Given the description of an element on the screen output the (x, y) to click on. 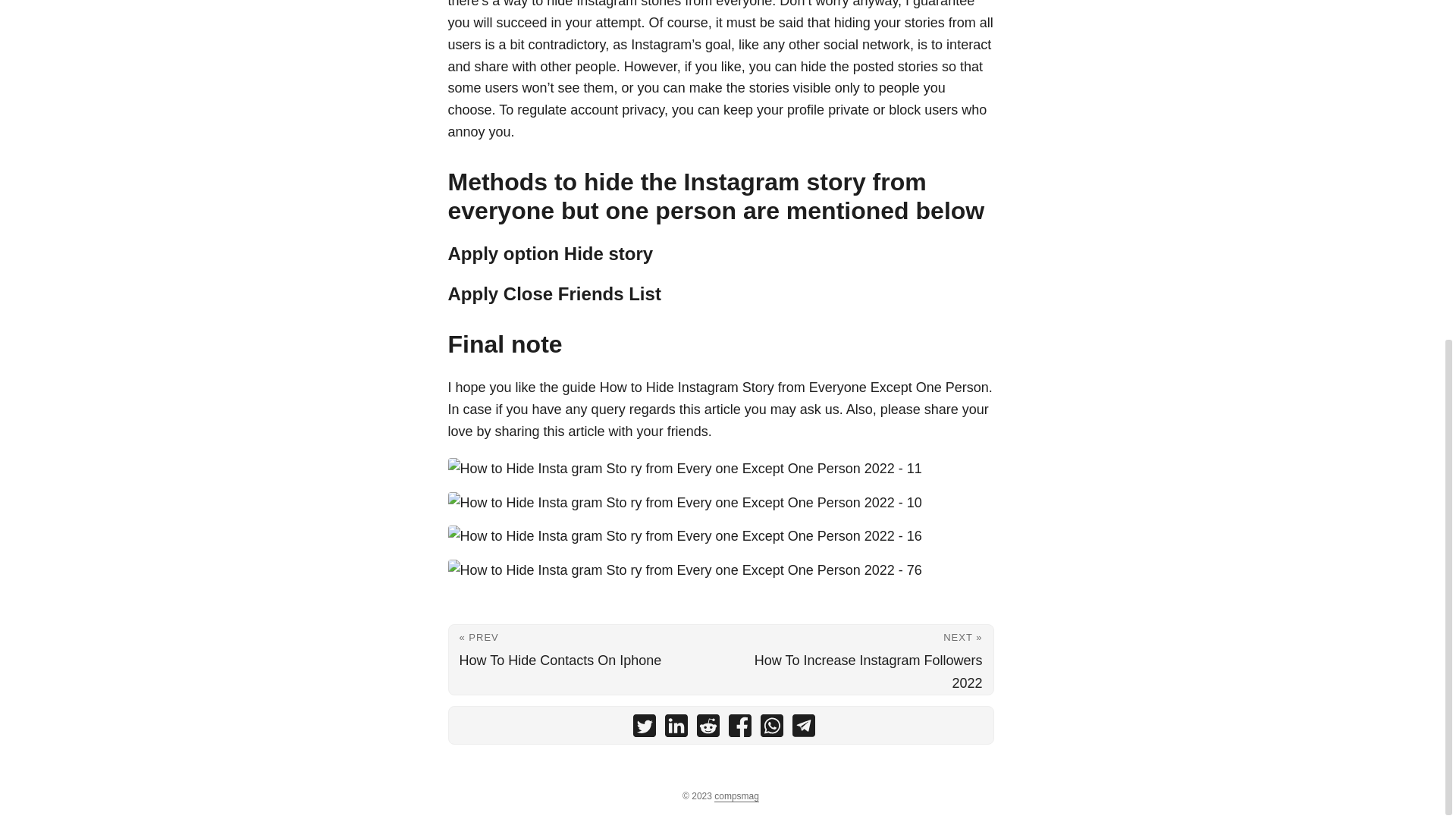
compsmag (736, 796)
